Given the description of an element on the screen output the (x, y) to click on. 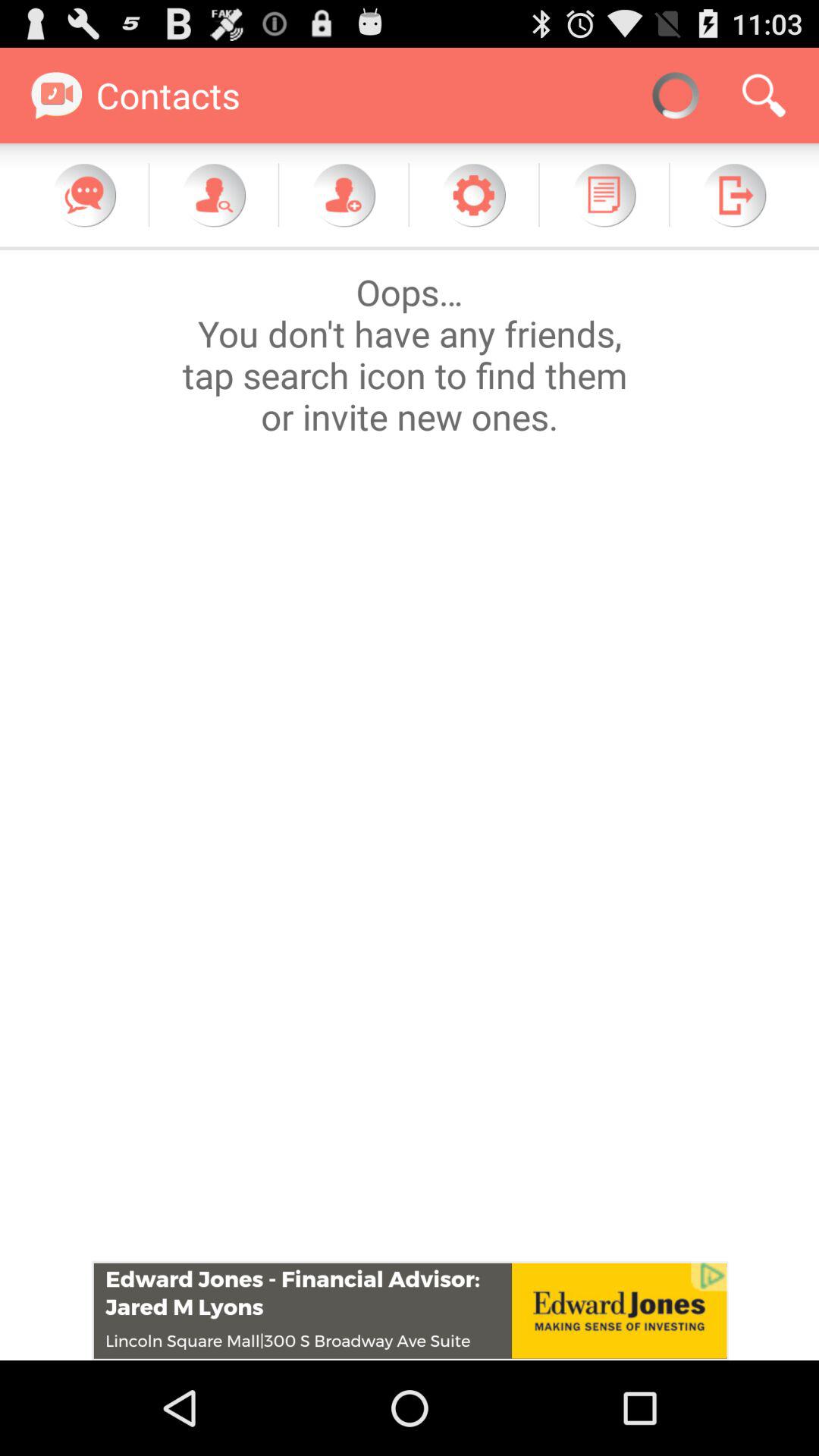
message (84, 194)
